Given the description of an element on the screen output the (x, y) to click on. 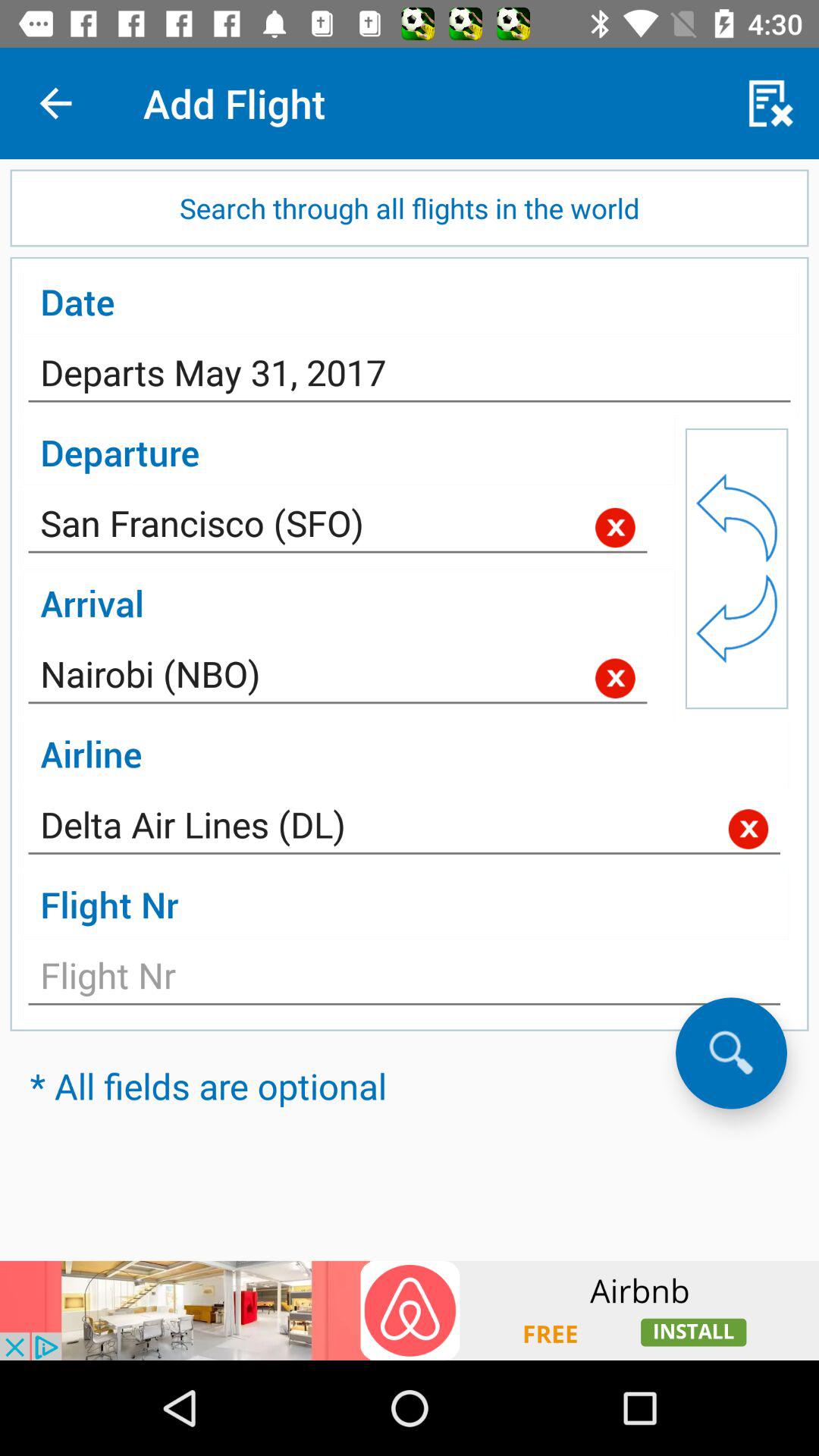
search (731, 1053)
